Given the description of an element on the screen output the (x, y) to click on. 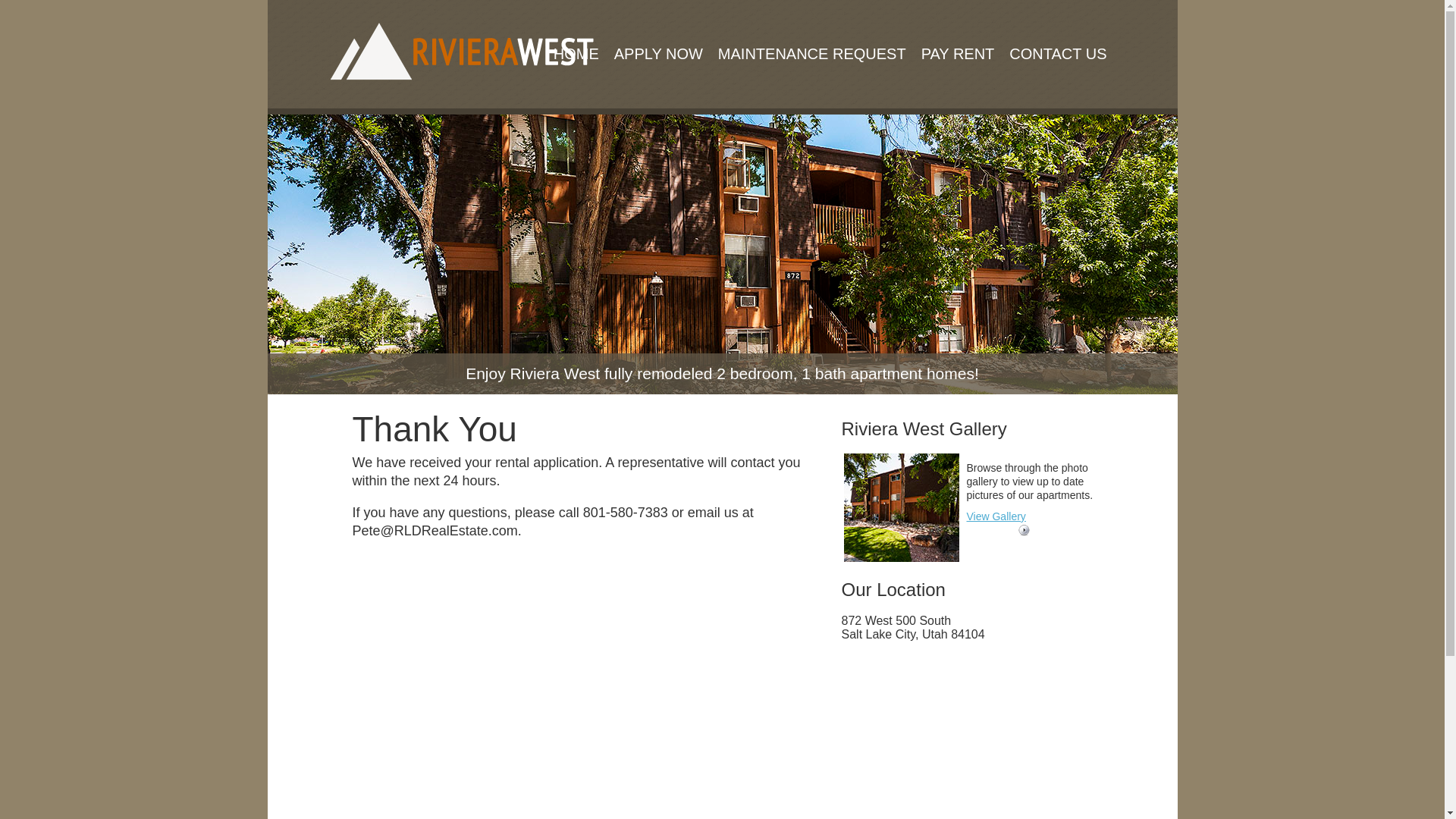
PAY RENT (958, 35)
View Gallery (995, 516)
MAINTENANCE REQUEST (812, 35)
CONTACT US (1057, 35)
APPLY NOW (658, 35)
